Given the description of an element on the screen output the (x, y) to click on. 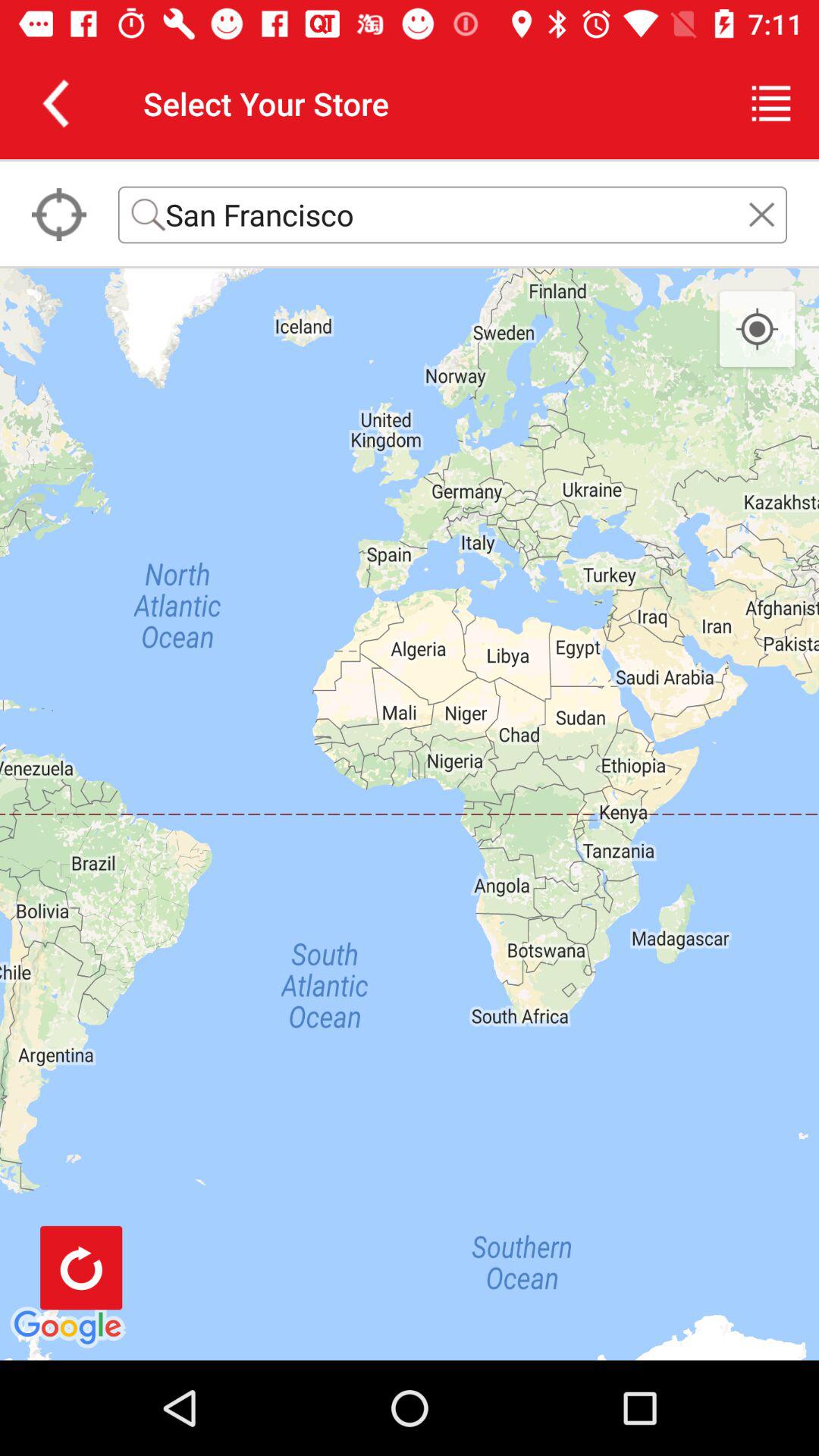
launch the item next to select your store (55, 103)
